Given the description of an element on the screen output the (x, y) to click on. 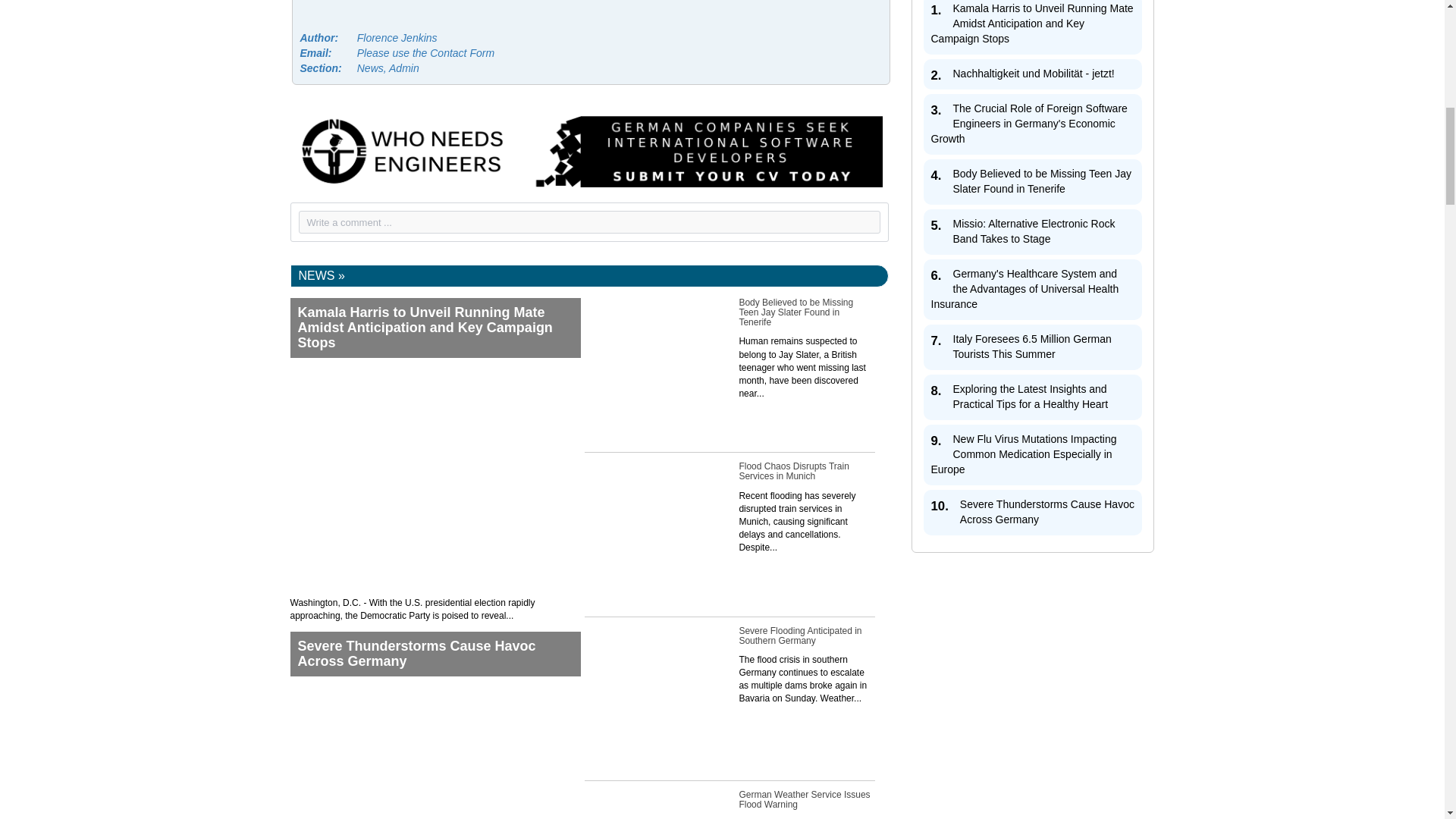
Flood Chaos Disrupts Train Services in Munich (730, 547)
Severe Thunderstorms Cause Havoc Across Germany (434, 725)
News (321, 275)
Severe Flooding Anticipated in Southern Germany (730, 697)
German Engineering Jobs (588, 150)
